Given the description of an element on the screen output the (x, y) to click on. 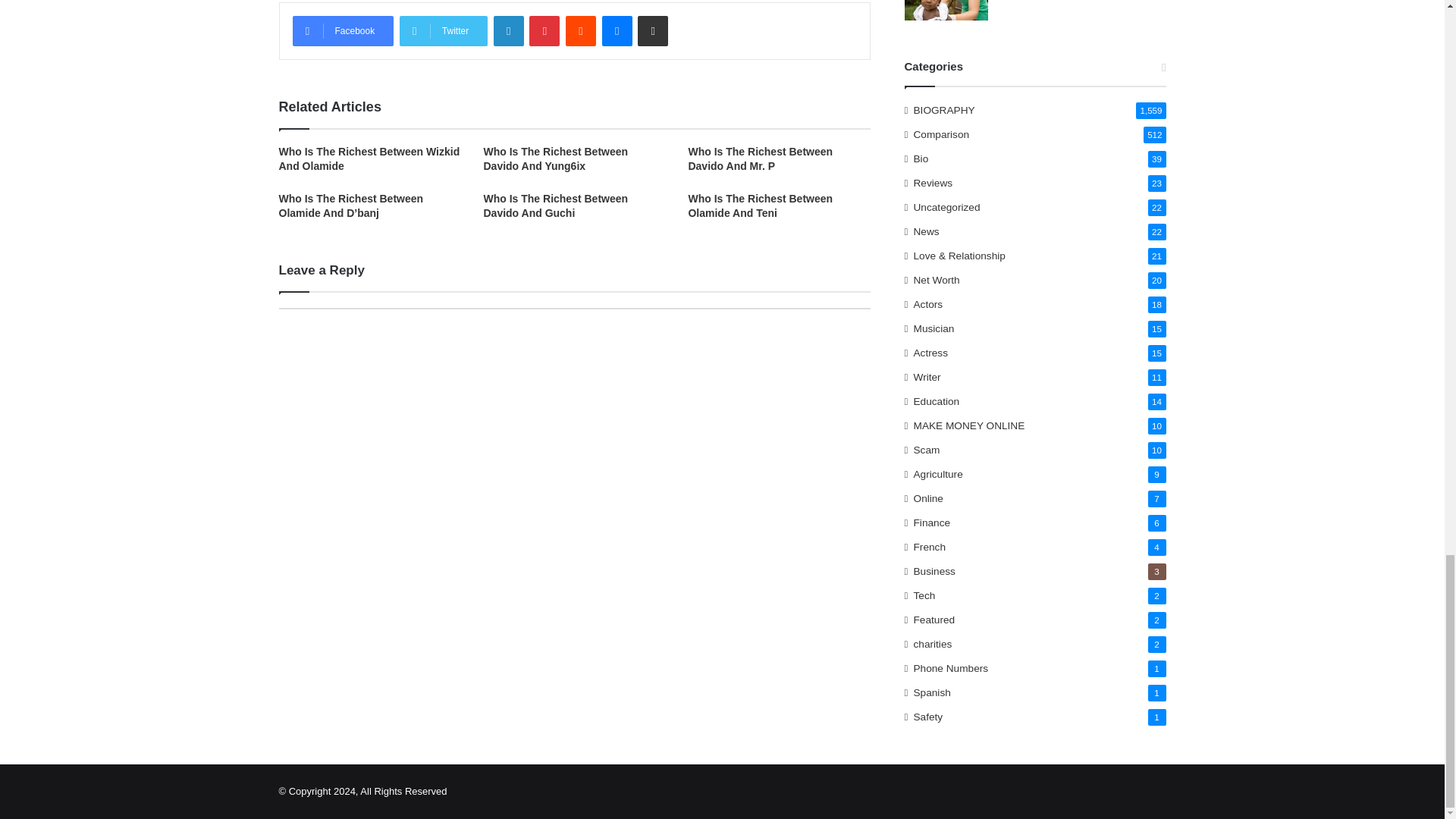
Messenger (616, 30)
Reddit (580, 30)
Facebook (343, 30)
Who Is The Richest Between Olamide And Teni (759, 205)
Who Is The Richest Between Davido And Mr. P (759, 158)
Pinterest (544, 30)
Twitter (442, 30)
Who Is The Richest Between Davido And Yung6ix (555, 158)
LinkedIn (508, 30)
Facebook (343, 30)
